Given the description of an element on the screen output the (x, y) to click on. 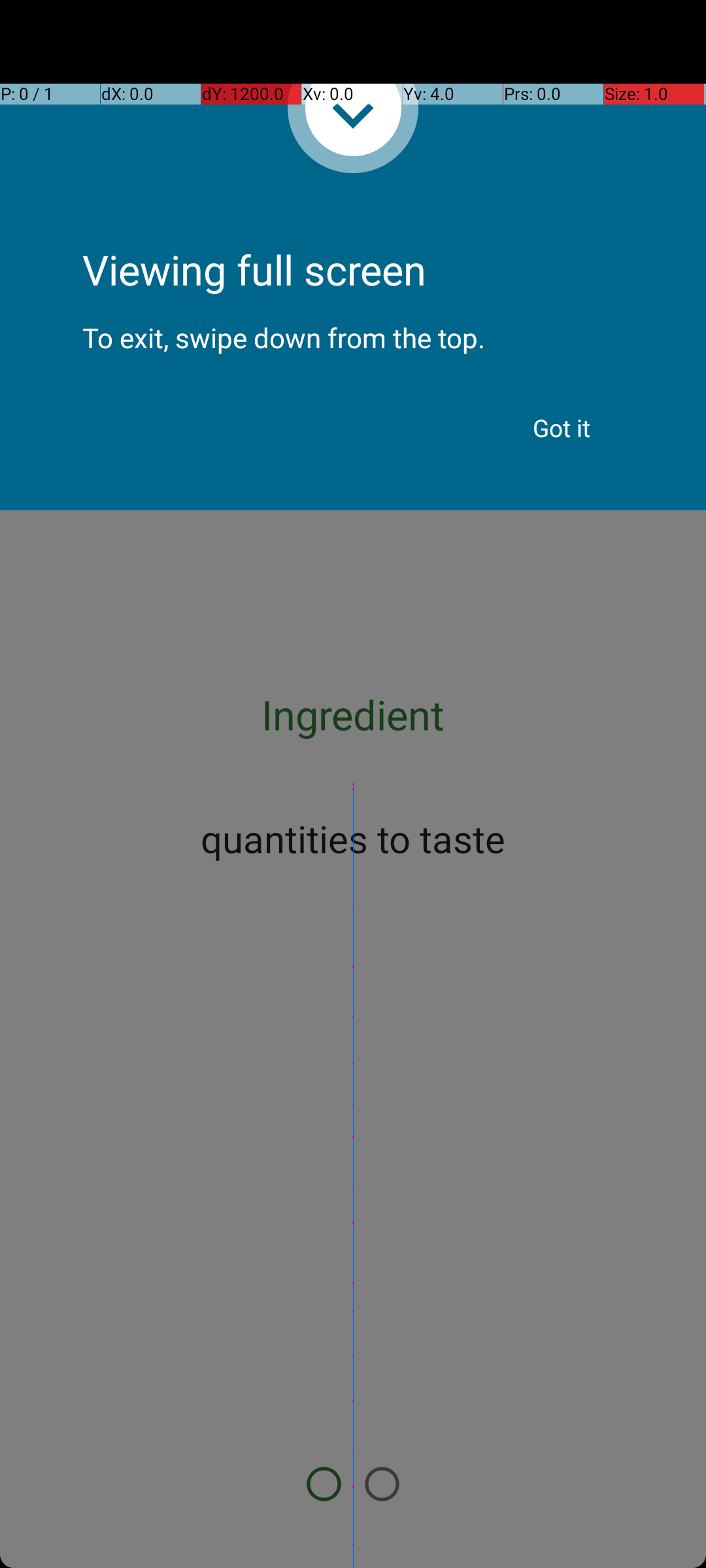
quantities to taste Element type: android.widget.TextView (352, 838)
Viewing full screen Element type: android.widget.TextView (353, 235)
To exit, swipe down from the top. Element type: android.widget.TextView (353, 326)
Got it Element type: android.widget.Button (561, 427)
